Given the description of an element on the screen output the (x, y) to click on. 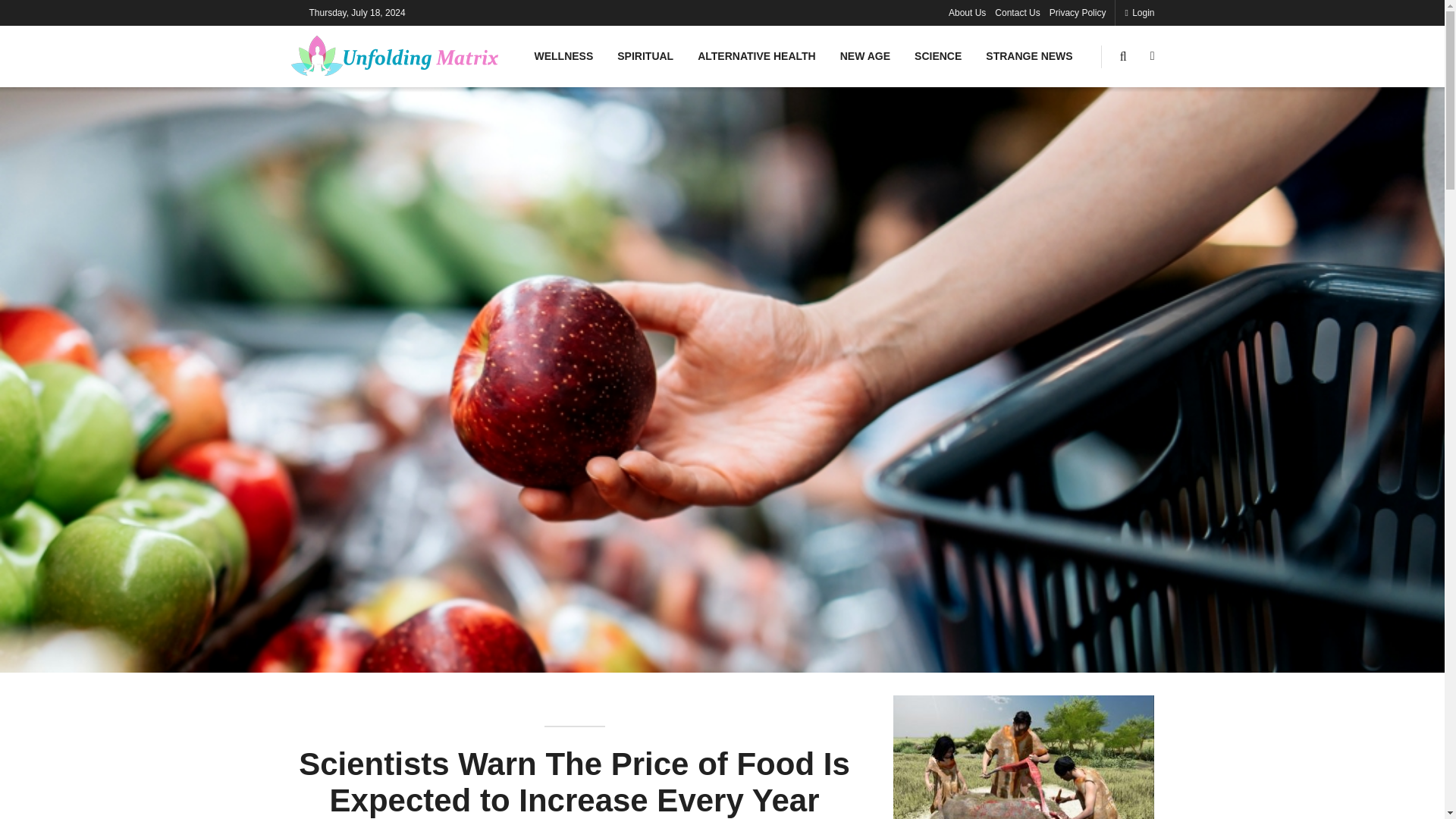
ALTERNATIVE HEALTH (756, 55)
Contact Us (1016, 12)
Login (1139, 12)
SCIENCE (938, 55)
SPIRITUAL (645, 55)
NEW AGE (865, 55)
About Us (967, 12)
STRANGE NEWS (1029, 55)
WELLNESS (563, 55)
Privacy Policy (1077, 12)
